Given the description of an element on the screen output the (x, y) to click on. 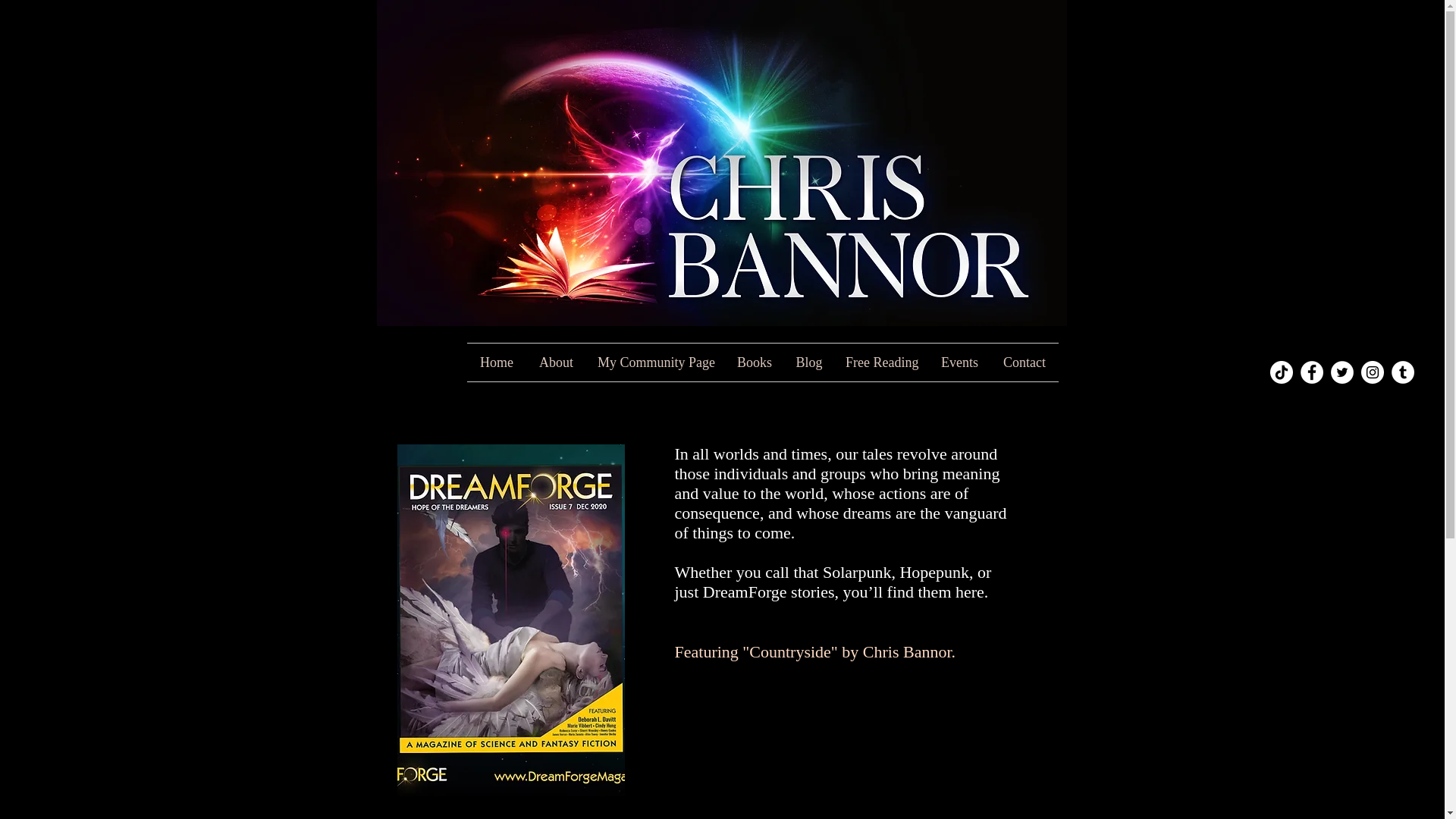
Free Reading (881, 362)
Blog (809, 362)
Books (754, 362)
Contact (1024, 362)
My Community Page (655, 362)
About (555, 362)
Events (959, 362)
Home (496, 362)
